Given the description of an element on the screen output the (x, y) to click on. 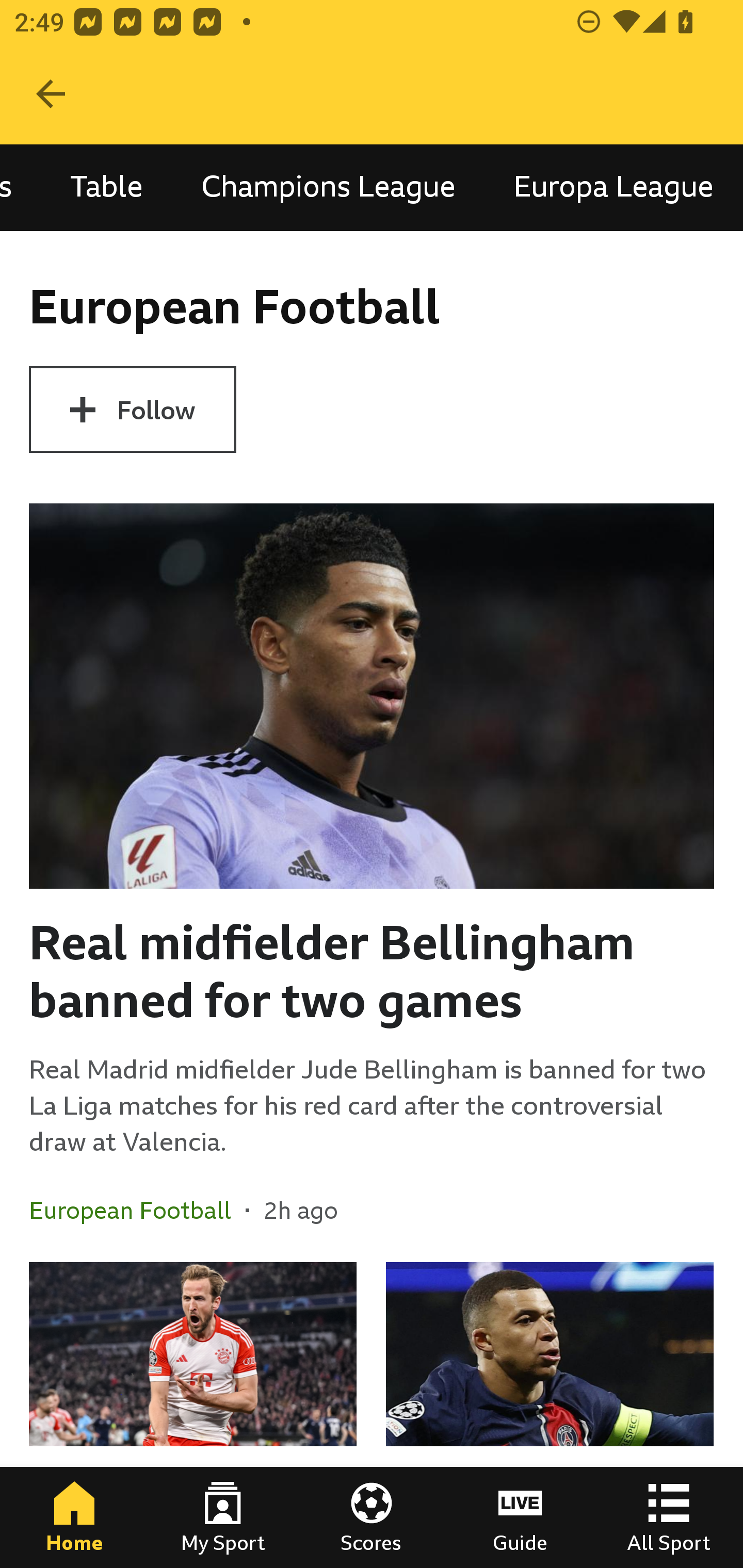
Navigate up (50, 93)
Table (106, 187)
Champions League (328, 187)
Europa League (613, 187)
Follow European Football Follow (132, 409)
Kane scores two as stylish Bayern beat Lazio (192, 1415)
Mbappe has 'no problems' with manager Enrique (549, 1415)
My Sport (222, 1517)
Scores (371, 1517)
Guide (519, 1517)
All Sport (668, 1517)
